Given the description of an element on the screen output the (x, y) to click on. 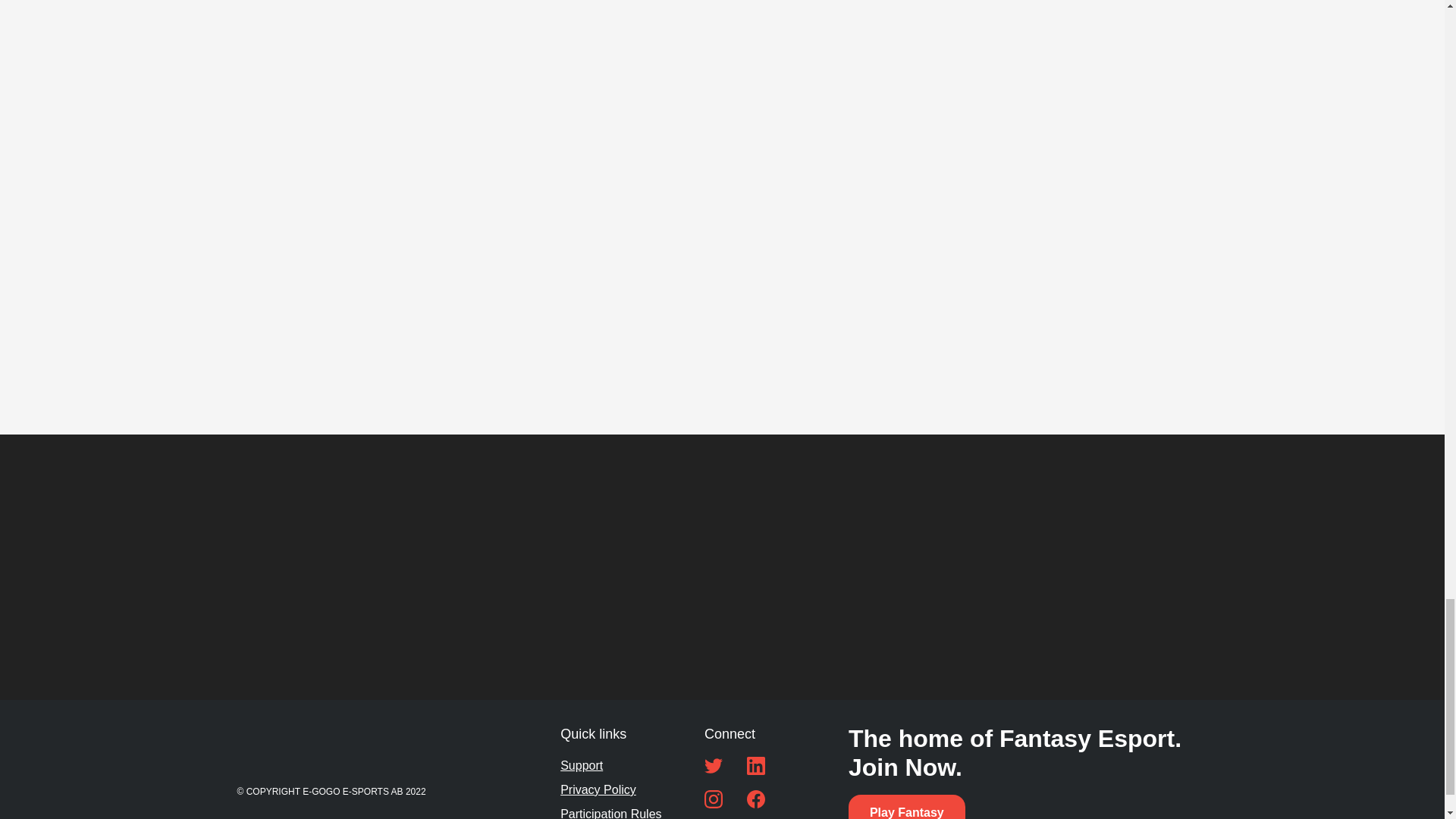
Facebook icon (755, 799)
Participation Rules (610, 812)
Instagram icon (713, 799)
LinkedIn icon (755, 765)
Privacy Policy (598, 790)
Support (581, 765)
Facebook icon (755, 799)
Twitter icon (713, 765)
Play Fantasy (906, 806)
Twitter icon (713, 765)
LinkedIn icon (755, 765)
Instagram icon (713, 799)
